Given the description of an element on the screen output the (x, y) to click on. 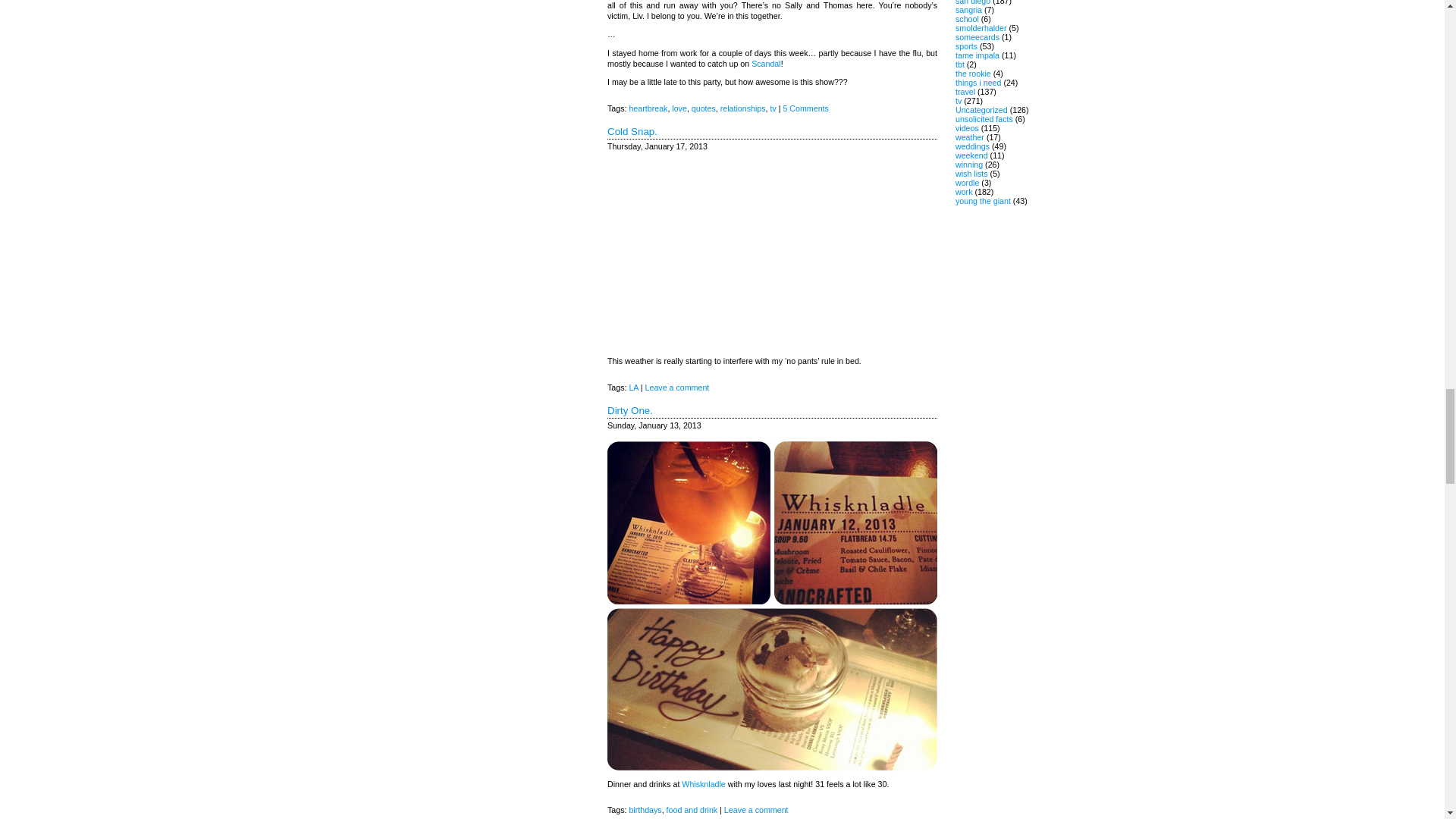
Scandal (765, 62)
